Given the description of an element on the screen output the (x, y) to click on. 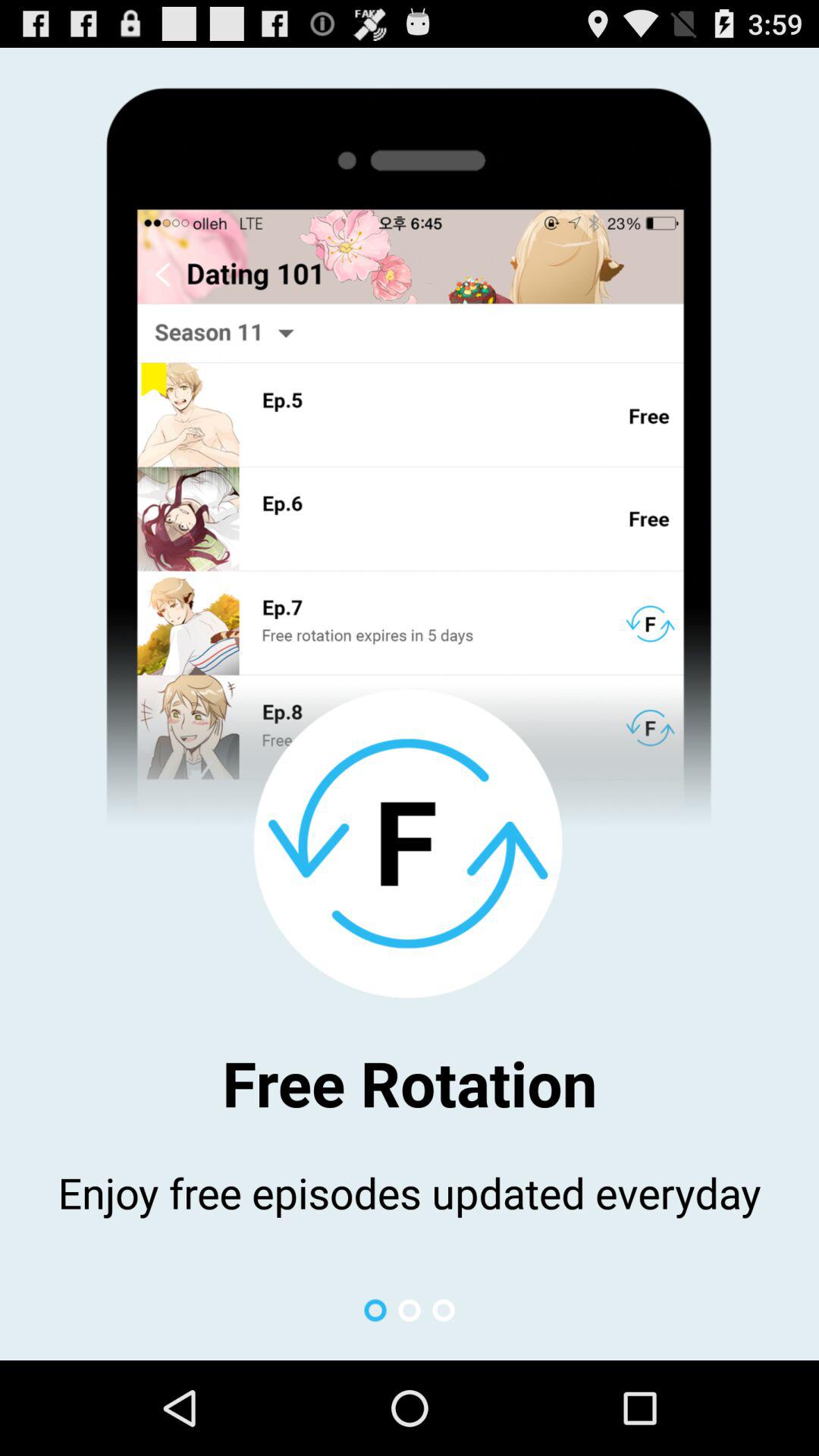
turn on icon below enjoy free episodes app (375, 1310)
